Given the description of an element on the screen output the (x, y) to click on. 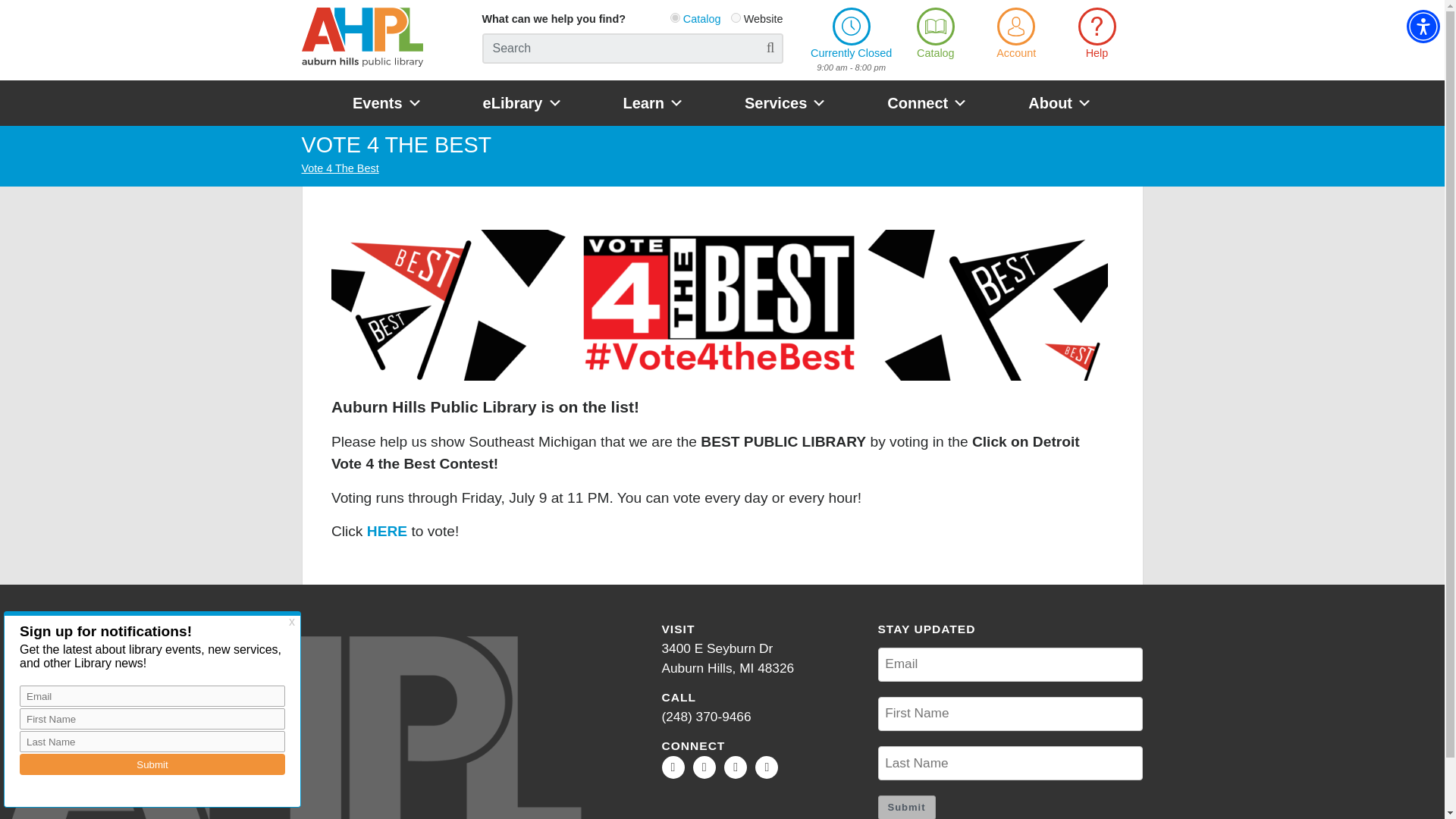
Events (386, 103)
Learn (653, 103)
Auburn Hills Public Library Home (850, 40)
Services (362, 40)
Directions to Library (785, 103)
Catalog (727, 657)
on (935, 34)
Connect (735, 17)
eLibrary (927, 103)
Accessibility Menu (522, 103)
on (1422, 26)
Help (674, 17)
Account (1096, 34)
